Given the description of an element on the screen output the (x, y) to click on. 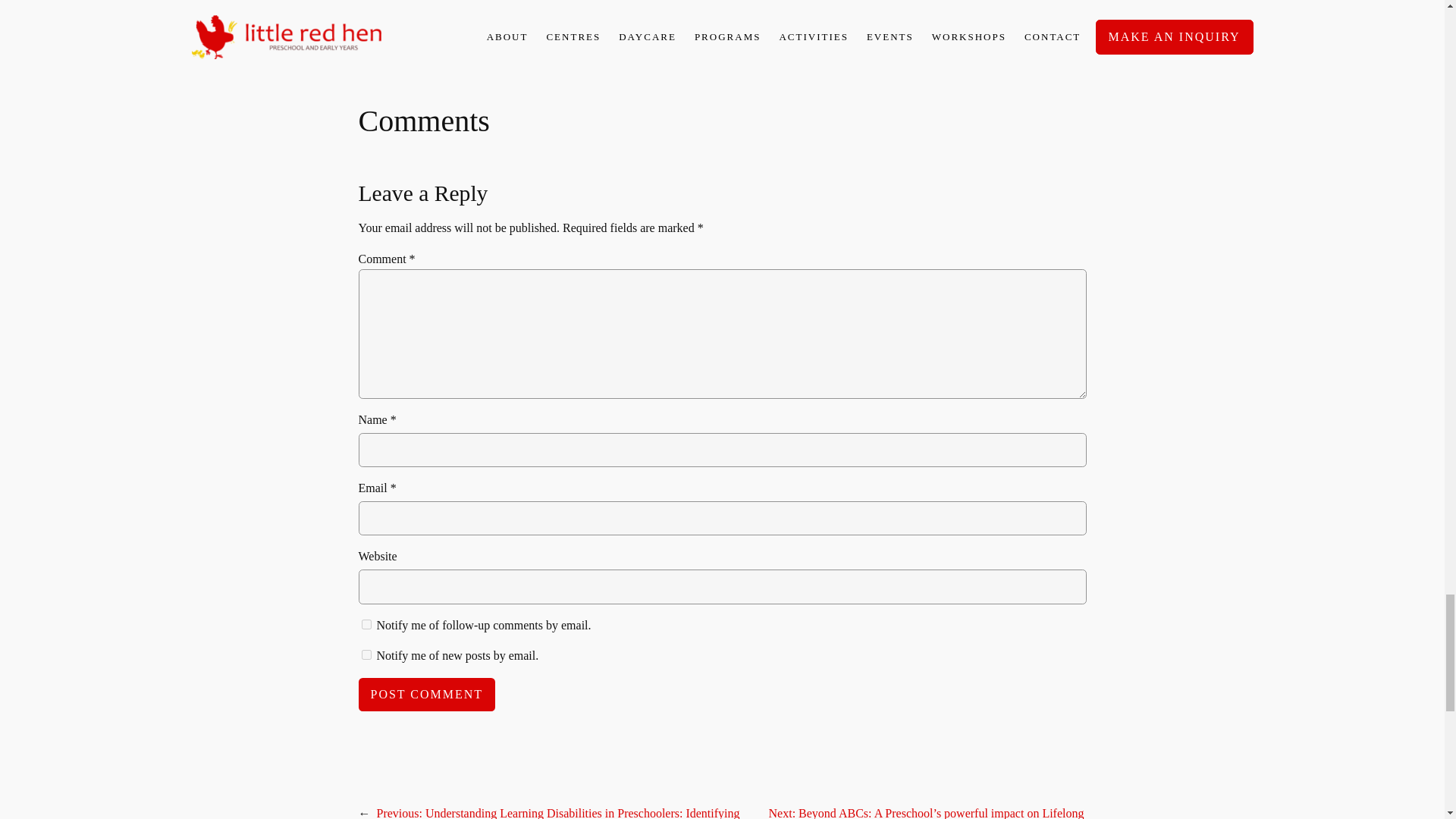
subscribe (366, 624)
Post Comment (426, 694)
Post Comment (426, 694)
subscribe (366, 655)
